Given the description of an element on the screen output the (x, y) to click on. 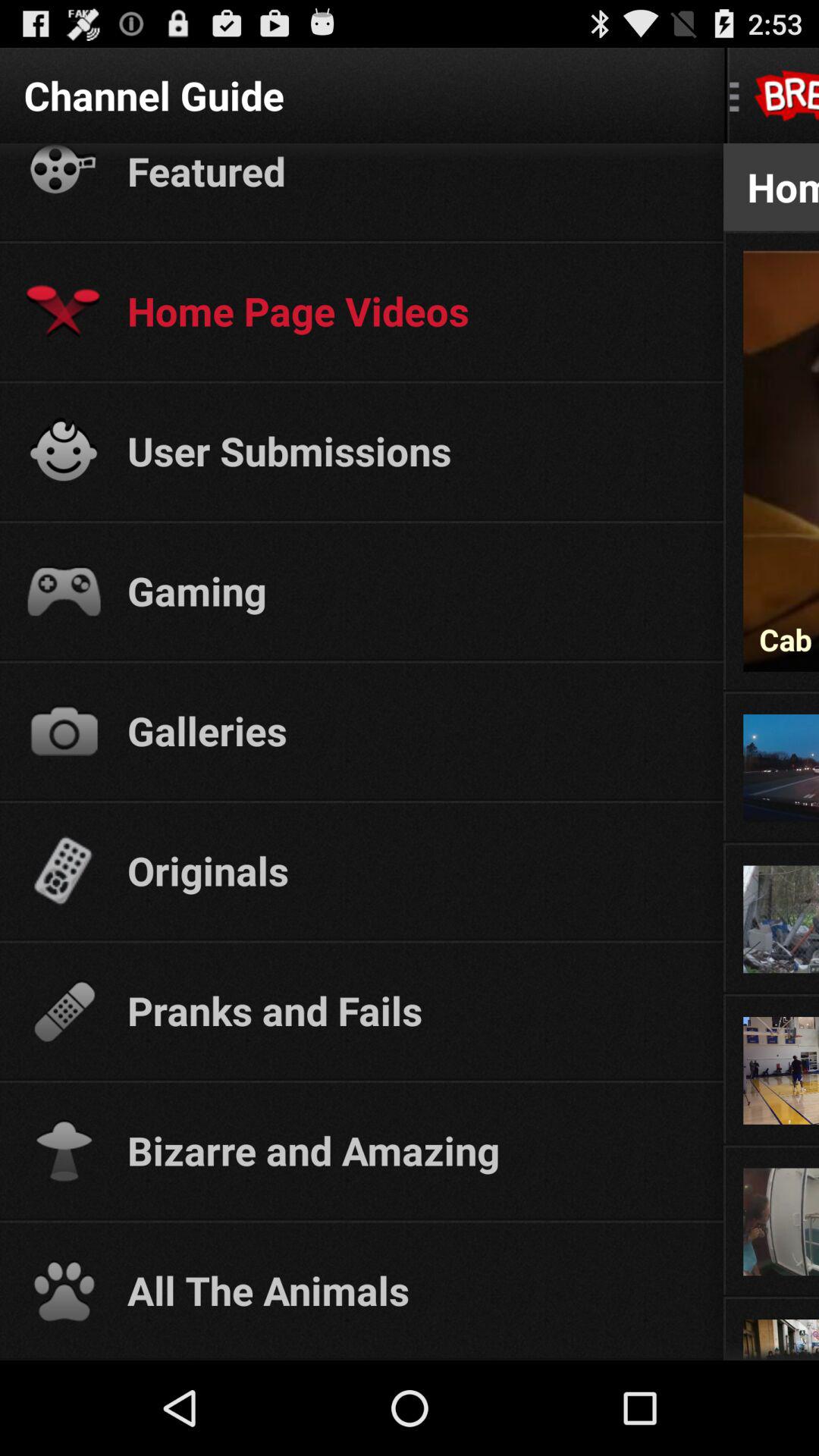
scroll until all the animals item (411, 1289)
